Given the description of an element on the screen output the (x, y) to click on. 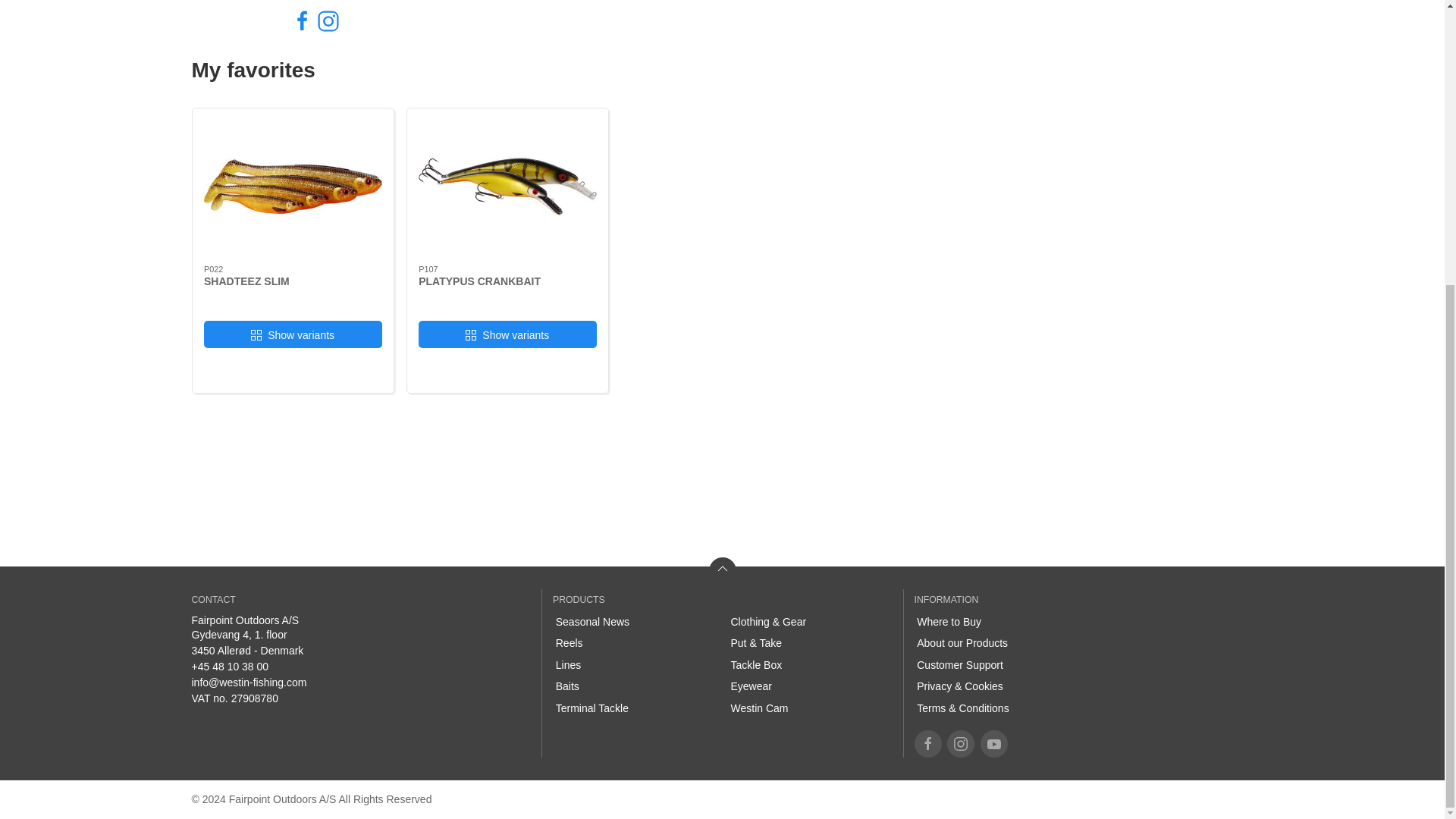
Show variants (507, 334)
SHADTEEZ SLIM (245, 281)
Youtube (993, 743)
Instagram (960, 743)
Seasonal News (634, 621)
Reels (634, 643)
Show variants (292, 334)
Facebook (928, 743)
Lines (634, 665)
Back to top (721, 570)
